Given the description of an element on the screen output the (x, y) to click on. 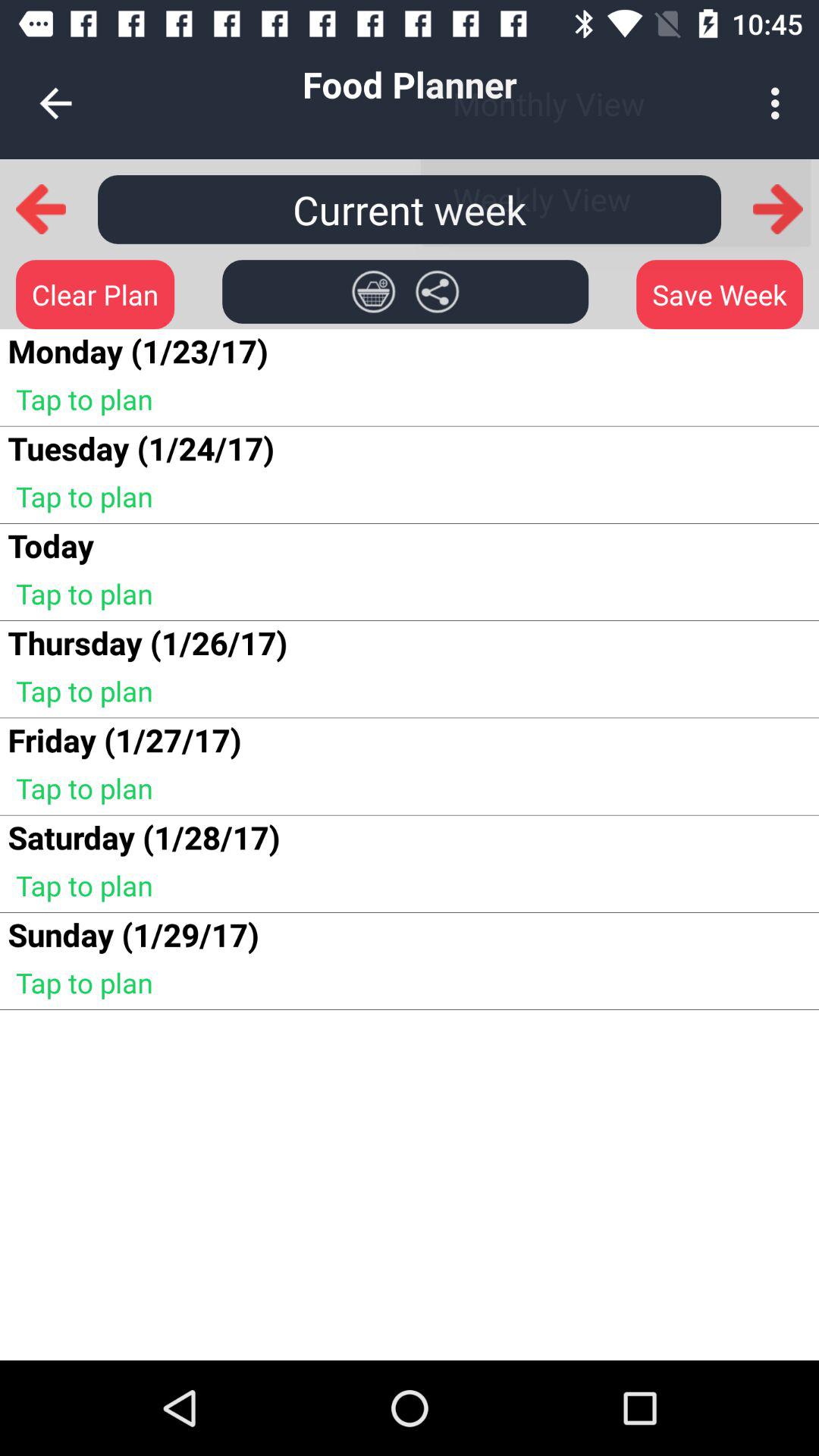
go to next option (778, 209)
